Given the description of an element on the screen output the (x, y) to click on. 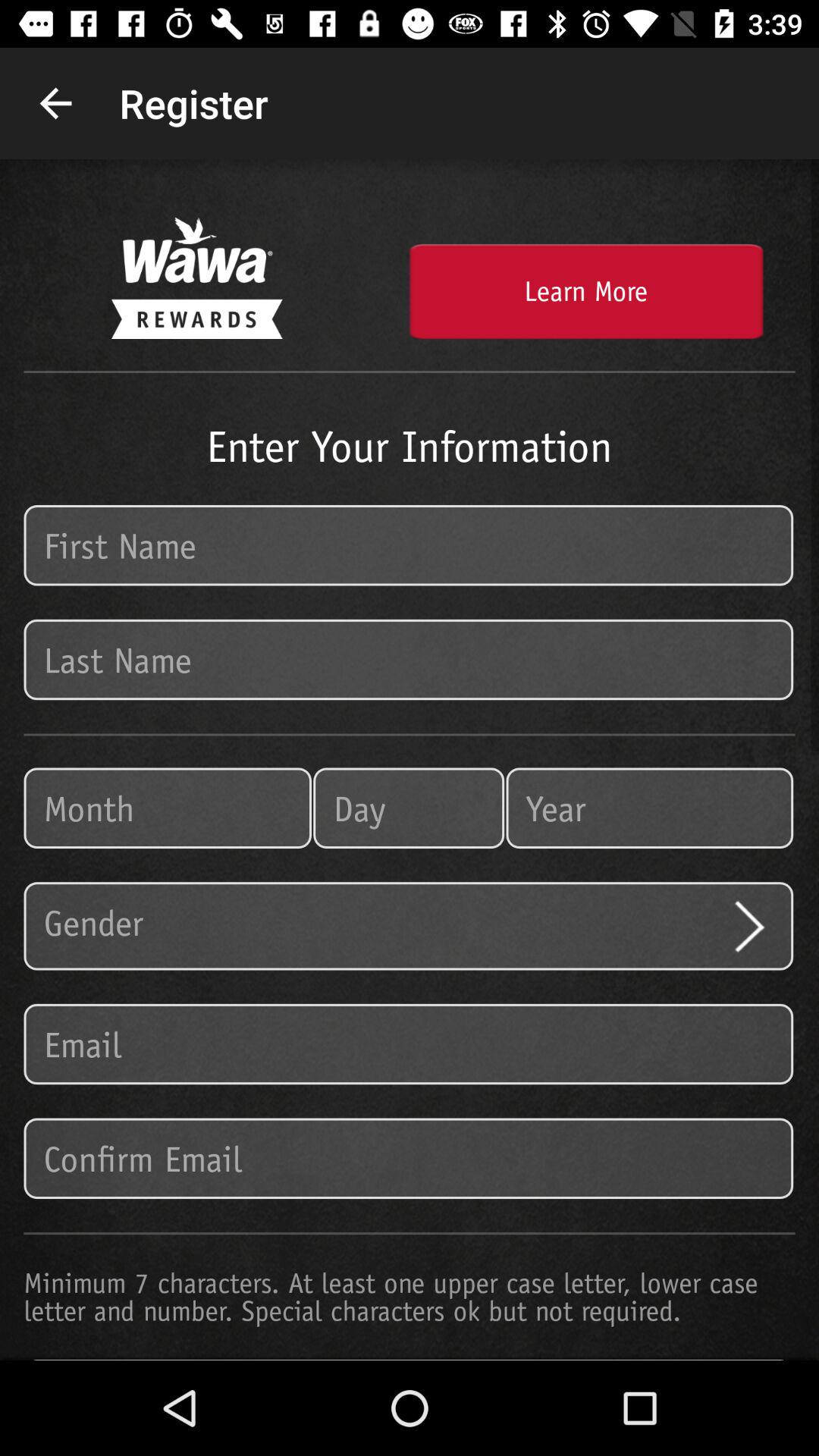
turn off the item below the minimum 7 characters (409, 1359)
